Given the description of an element on the screen output the (x, y) to click on. 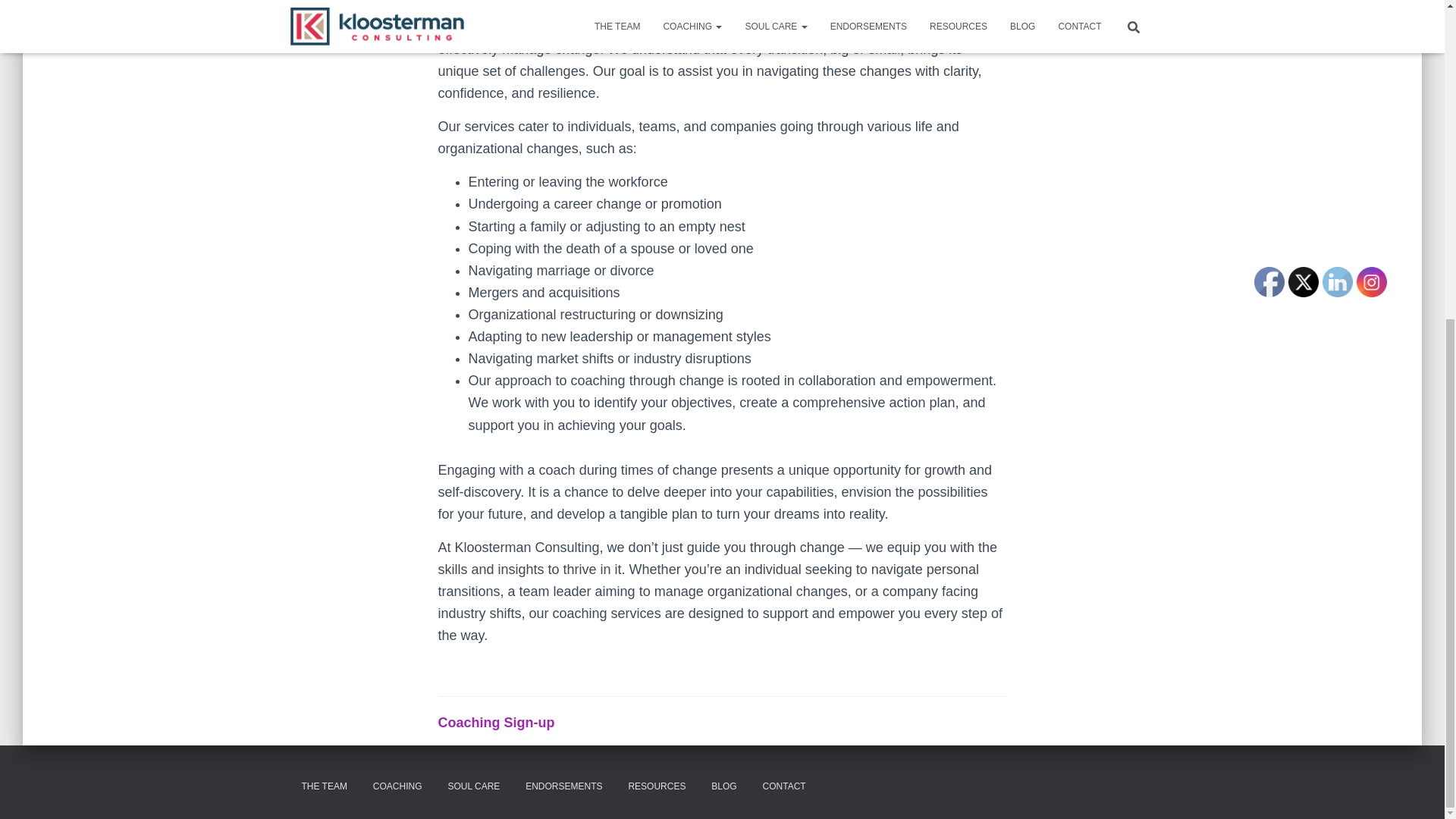
Facebook (1268, 281)
Coaching Sign-up (496, 722)
COACHING (397, 786)
SOUL CARE (473, 786)
RESOURCES (656, 786)
ENDORSEMENTS (562, 786)
THE TEAM (323, 786)
CONTACT (783, 786)
BLOG (724, 786)
